Given the description of an element on the screen output the (x, y) to click on. 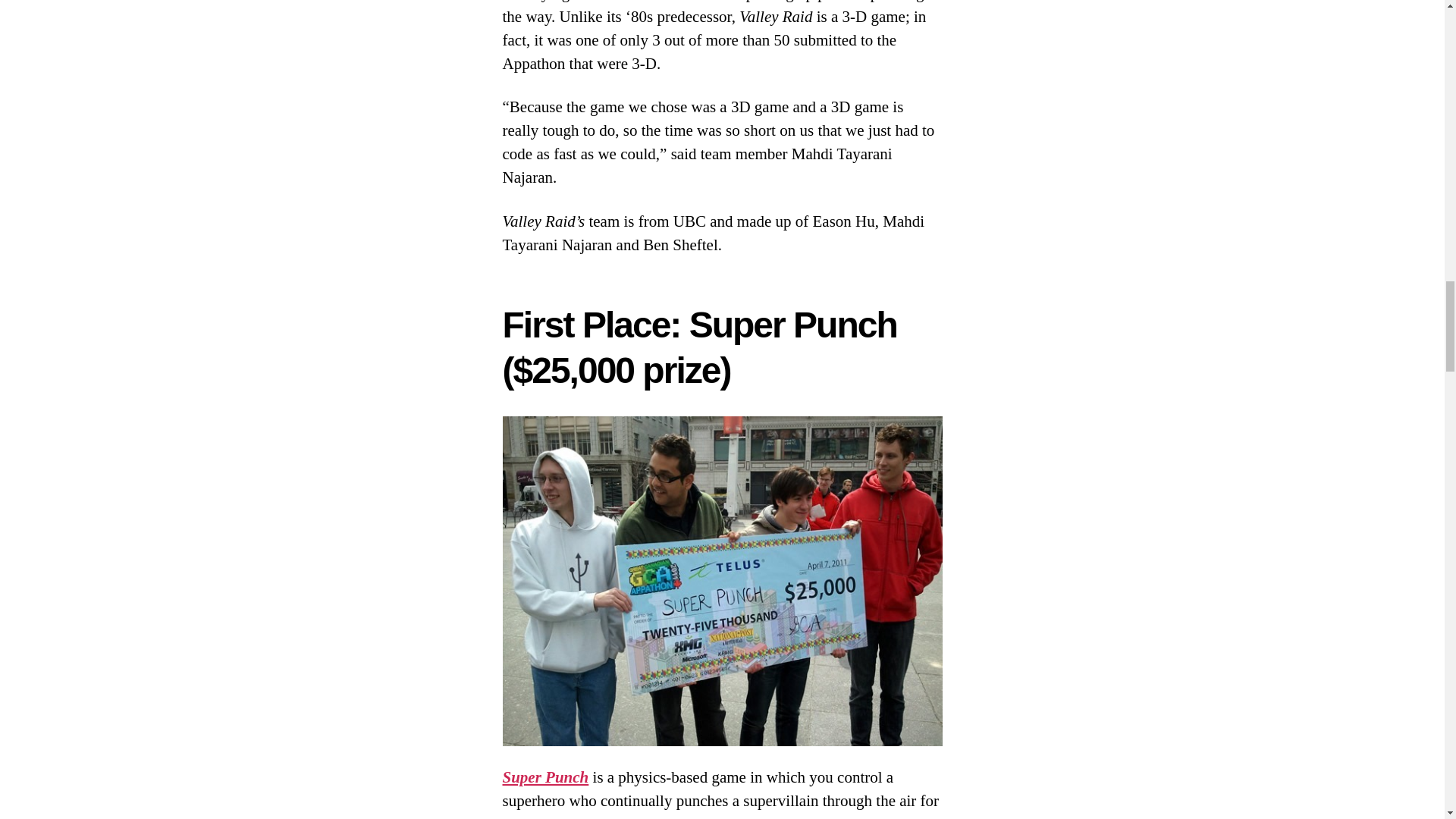
Super Punch (545, 777)
